Given the description of an element on the screen output the (x, y) to click on. 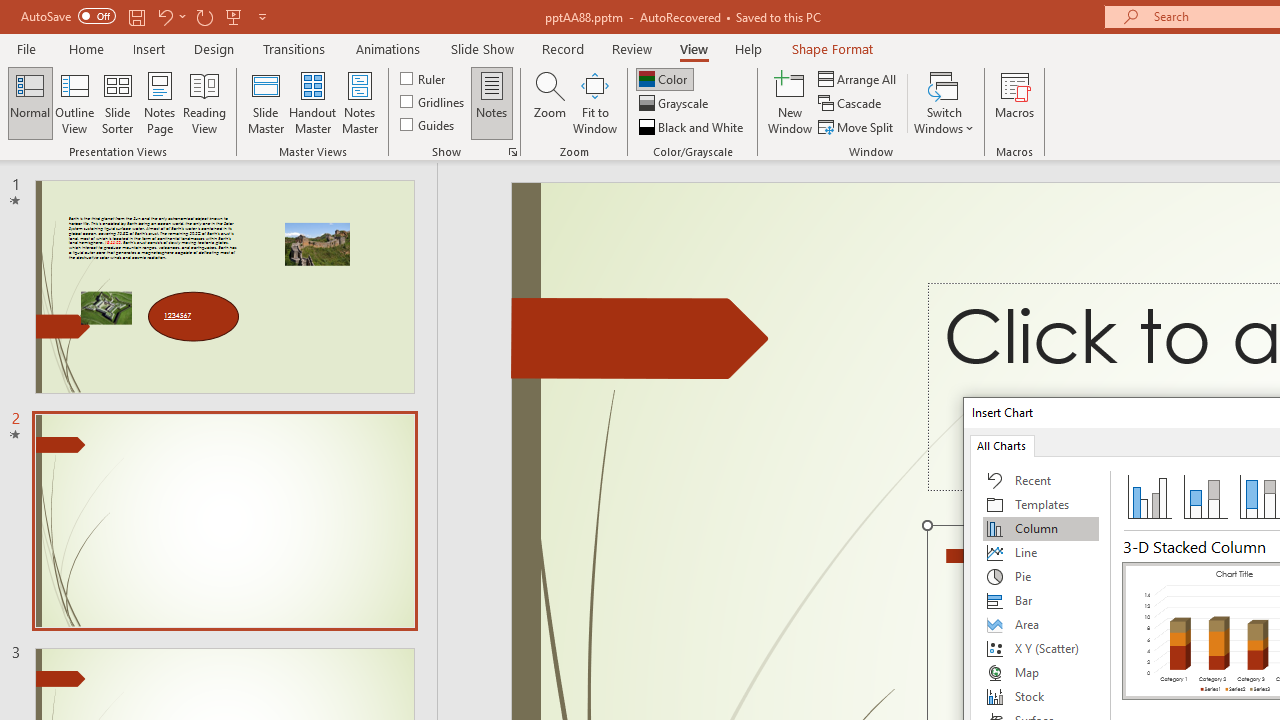
Pie (1041, 576)
Macros (1014, 102)
Stacked Column (1205, 496)
All Charts (1001, 444)
Clustered Column (1149, 496)
Stock (1041, 696)
Switch Windows (943, 102)
Move Split (857, 126)
